Given the description of an element on the screen output the (x, y) to click on. 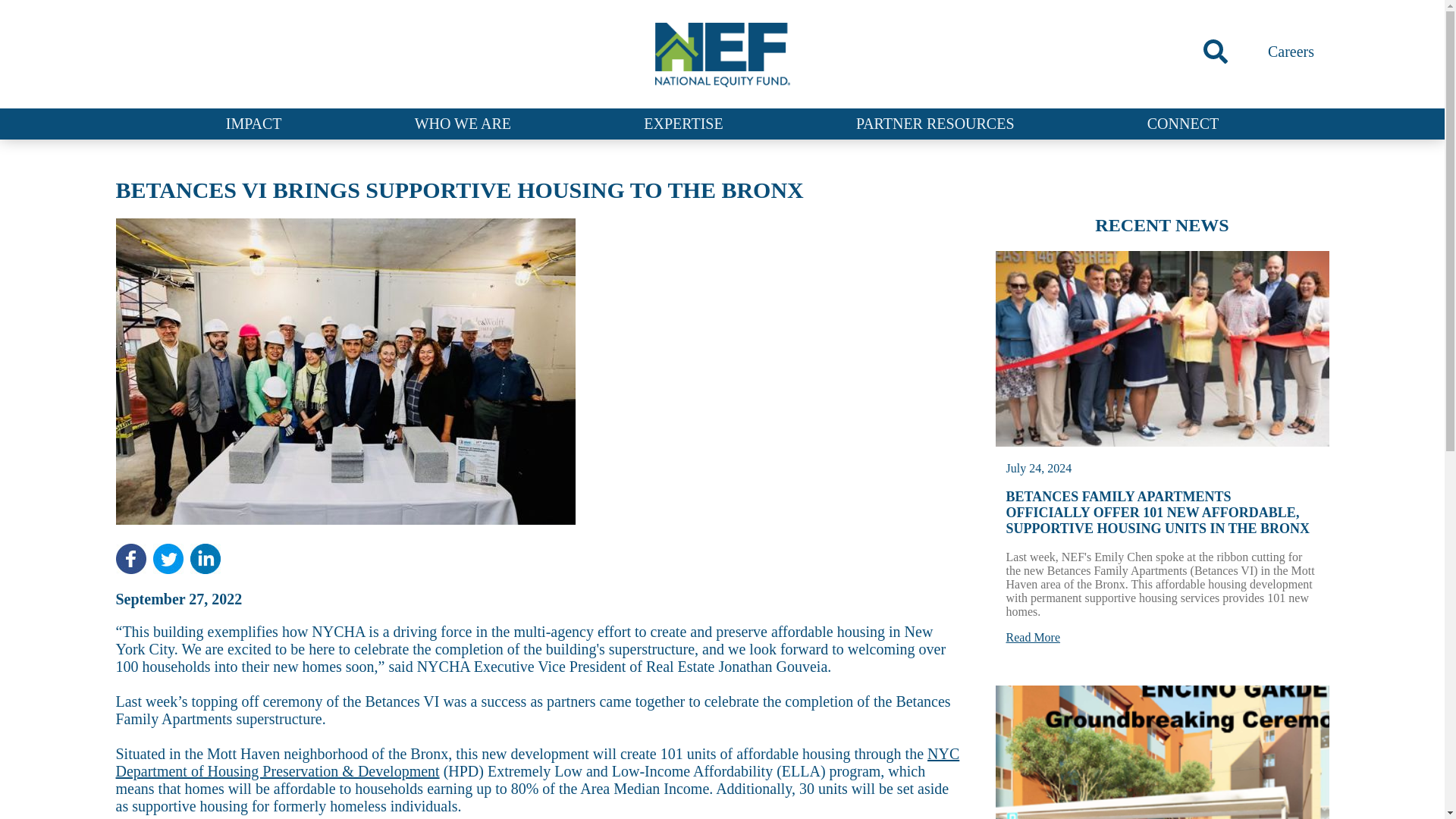
EXPERTISE (682, 123)
Careers (1291, 51)
WHO WE ARE (462, 123)
PARTNER RESOURCES (935, 123)
CONNECT (1182, 123)
IMPACT (253, 123)
